Given the description of an element on the screen output the (x, y) to click on. 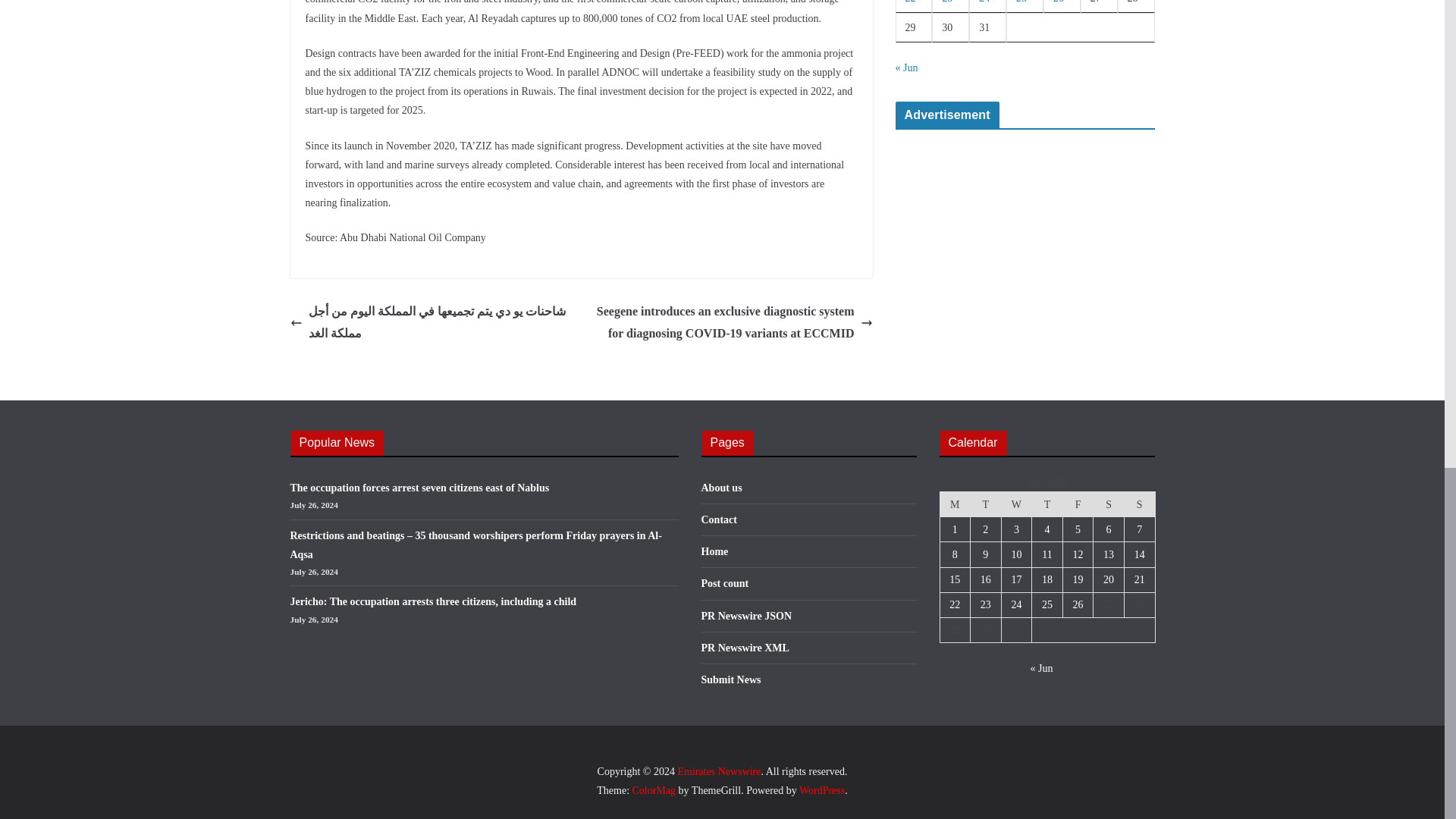
Monday (955, 504)
Tuesday (986, 504)
Wednesday (1016, 504)
Friday (1077, 504)
Thursday (1047, 504)
